Given the description of an element on the screen output the (x, y) to click on. 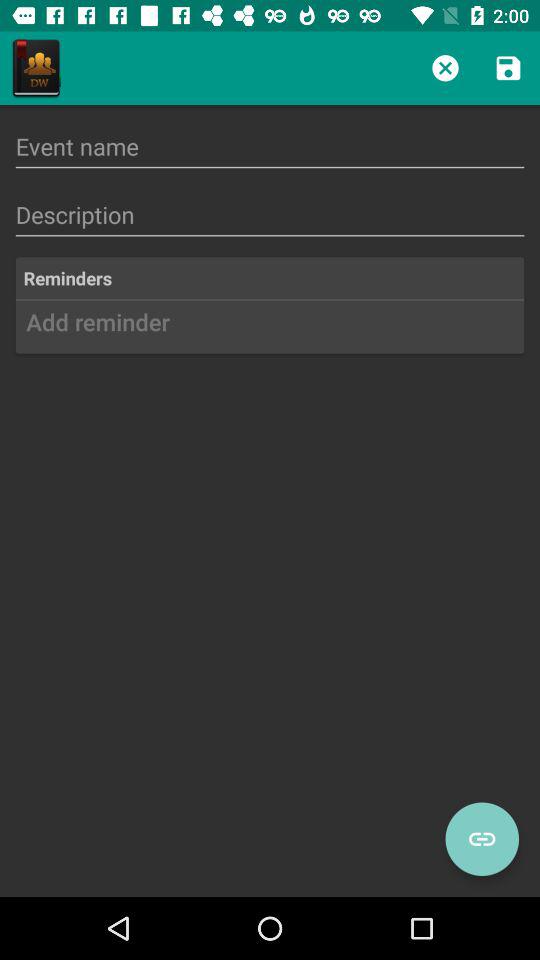
insira o nome do evento (269, 146)
